Given the description of an element on the screen output the (x, y) to click on. 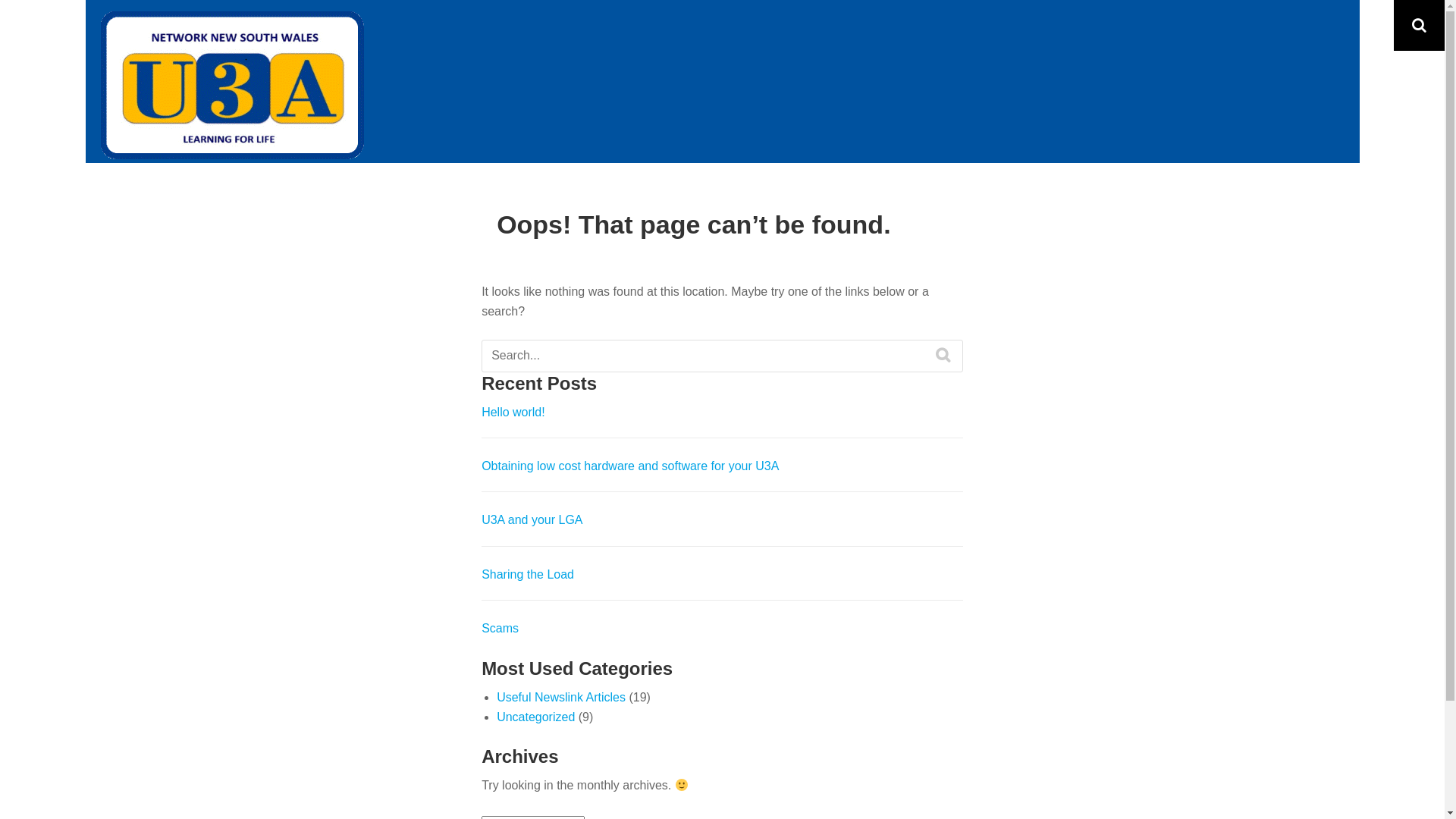
Search for: Element type: hover (722, 355)
Scams Element type: text (499, 627)
Hello world! Element type: text (513, 411)
U3A and your LGA Element type: text (531, 519)
Useful Newslink Articles Element type: text (560, 696)
SEARCH Element type: text (942, 354)
Uncategorized Element type: text (535, 716)
Sharing the Load Element type: text (527, 573)
Obtaining low cost hardware and software for your U3A Element type: text (629, 465)
Skip to content Element type: text (0, 0)
